Given the description of an element on the screen output the (x, y) to click on. 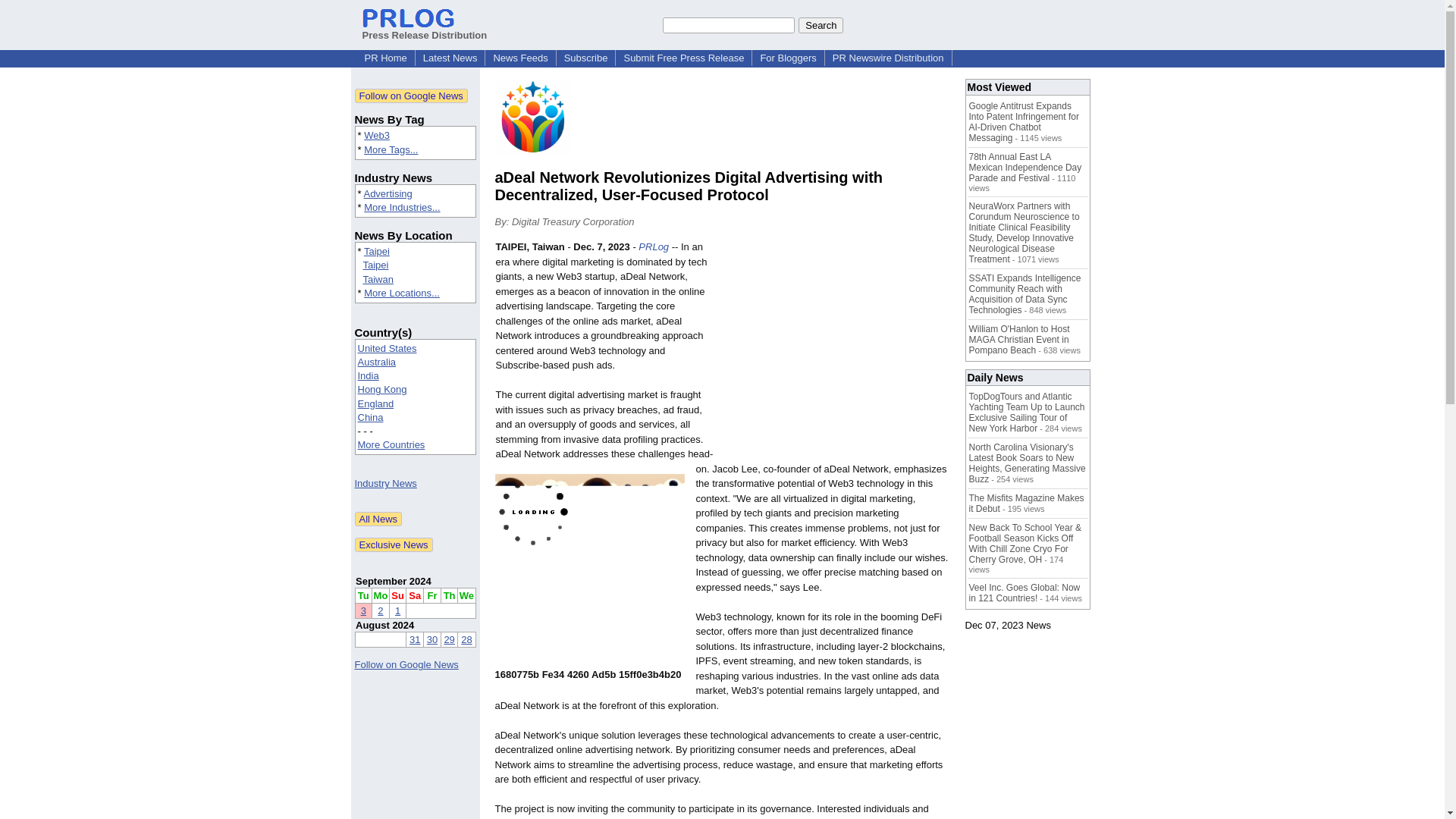
Taipei (375, 265)
Hong Kong (382, 389)
28 (466, 639)
China (371, 417)
England (376, 403)
Subscribe (585, 57)
More Industries... (401, 206)
Latest News (449, 57)
United States (387, 348)
31 (414, 639)
